Given the description of an element on the screen output the (x, y) to click on. 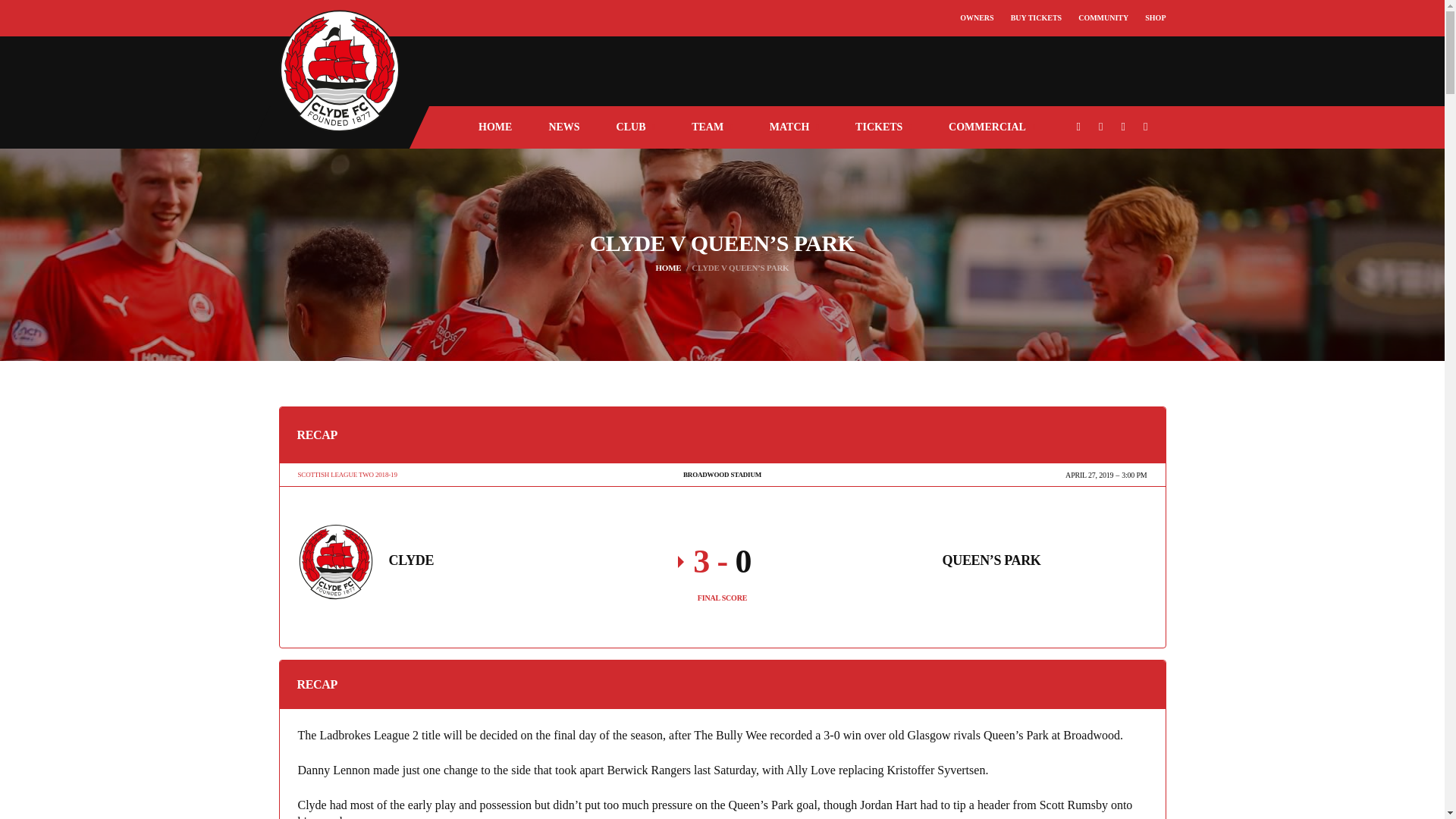
BUY TICKETS (1036, 18)
COMMUNITY (1103, 18)
NEWS (562, 127)
TICKETS (883, 127)
CLUB (636, 127)
MATCH (794, 127)
OWNERS (975, 18)
HOME (494, 127)
TEAM (711, 127)
COMMERCIAL (992, 127)
